Given the description of an element on the screen output the (x, y) to click on. 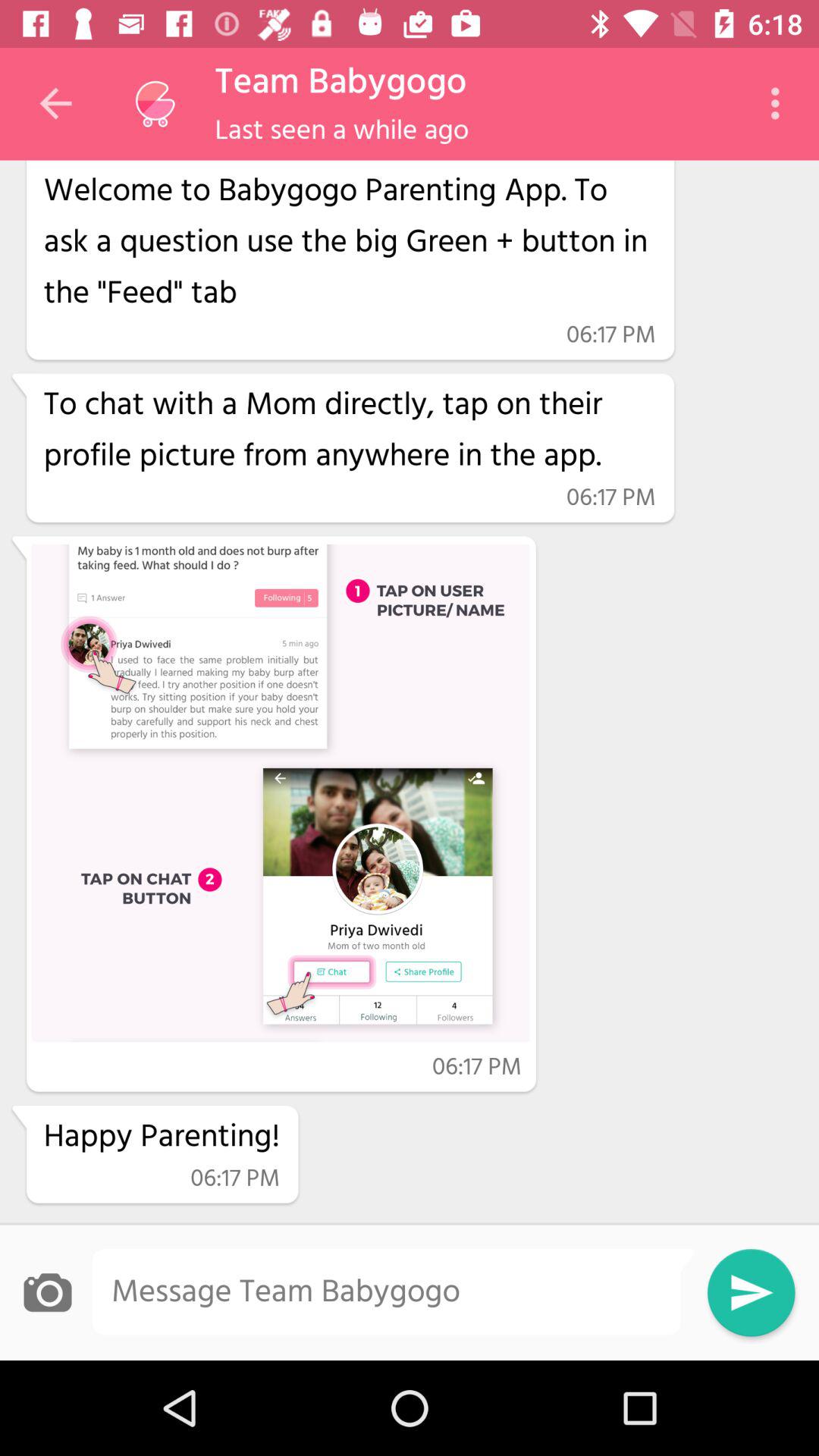
launch the to chat with item (349, 430)
